Given the description of an element on the screen output the (x, y) to click on. 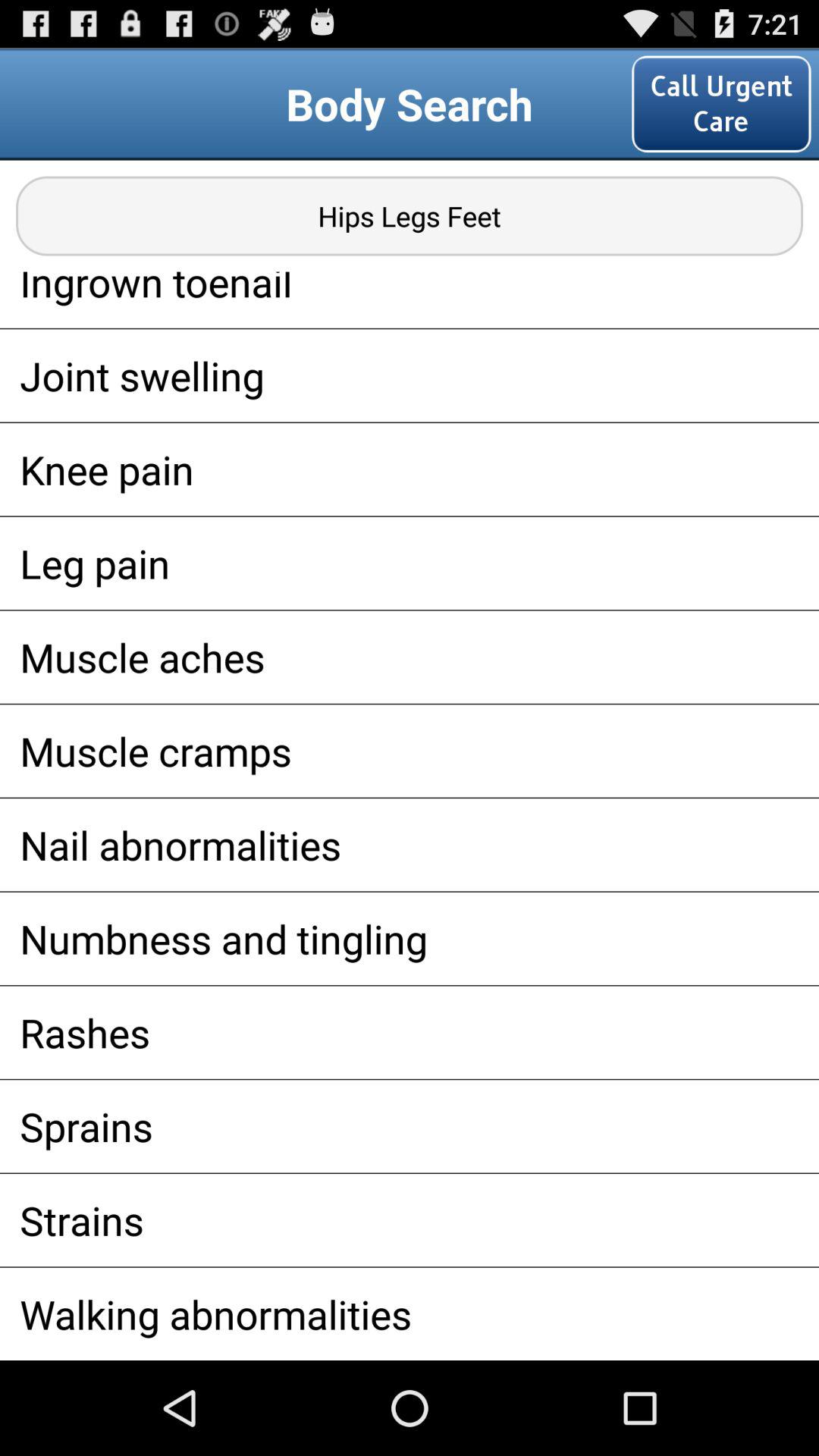
click item at the top right corner (721, 103)
